Given the description of an element on the screen output the (x, y) to click on. 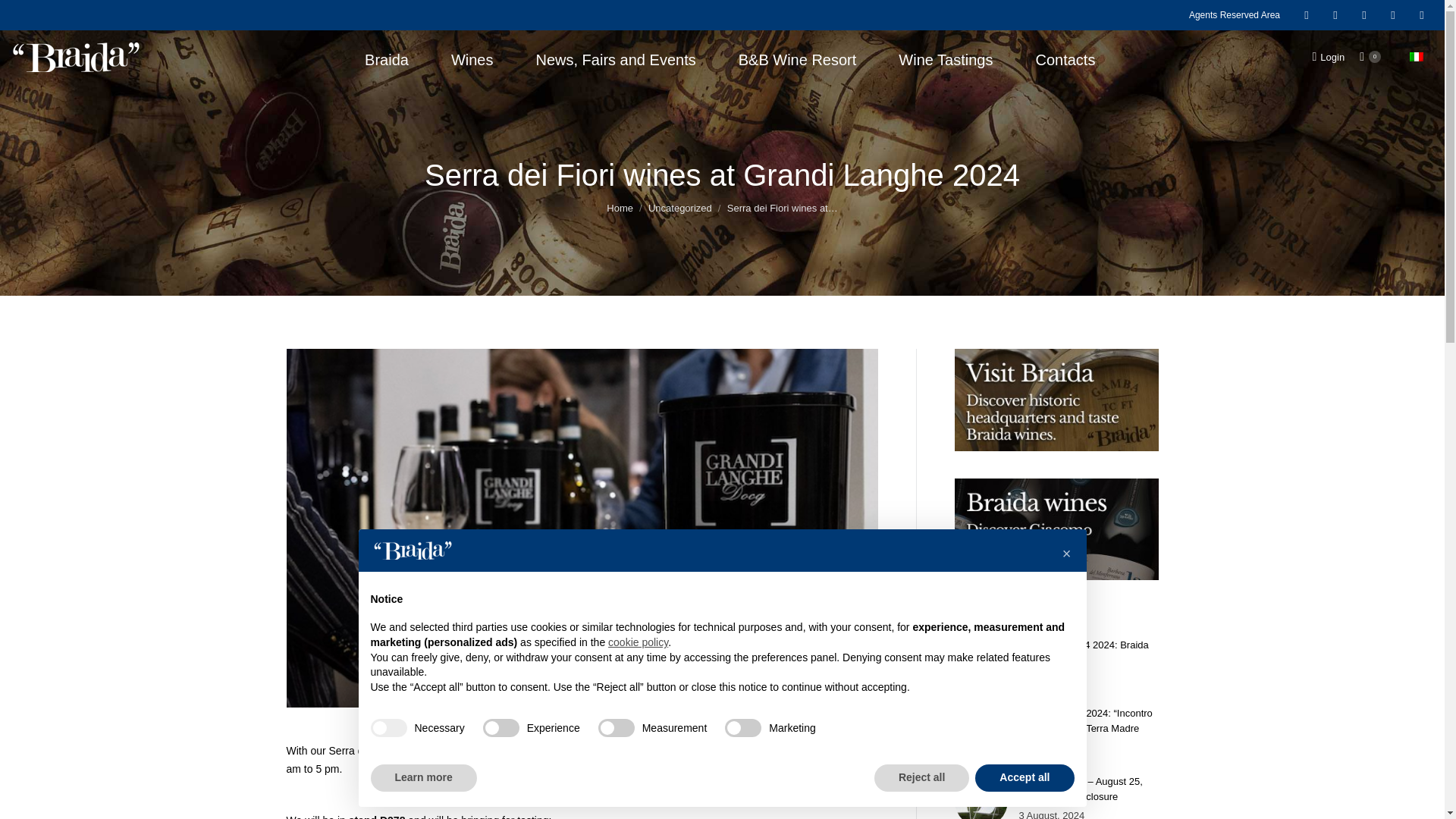
false (501, 728)
false (616, 728)
X page opens in new window (1393, 15)
Braida (386, 56)
Pinterest page opens in new window (1421, 15)
Pinterest page opens in new window (1421, 15)
Agents Reserved Area (1234, 15)
false (743, 728)
true (387, 728)
Wines (472, 56)
